Given the description of an element on the screen output the (x, y) to click on. 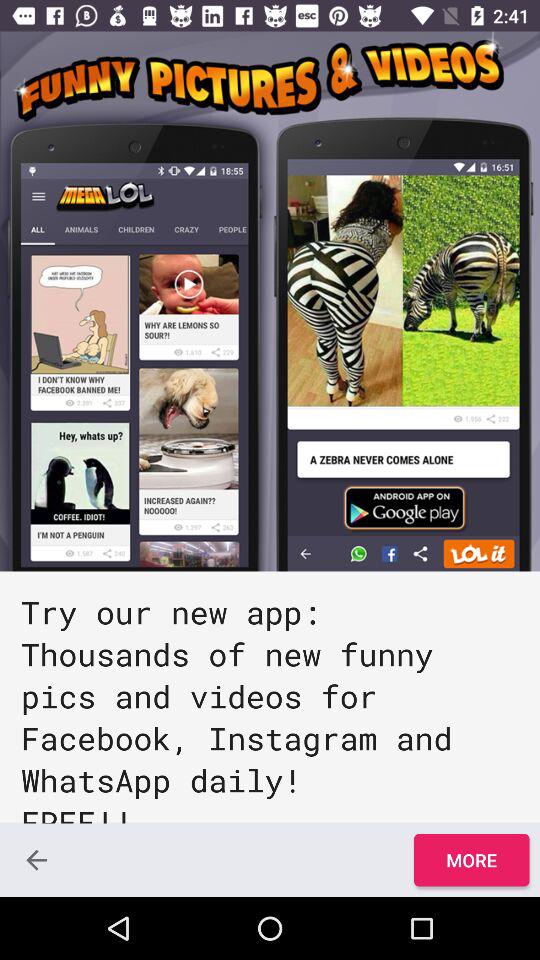
launch the icon to the left of more item (36, 859)
